Given the description of an element on the screen output the (x, y) to click on. 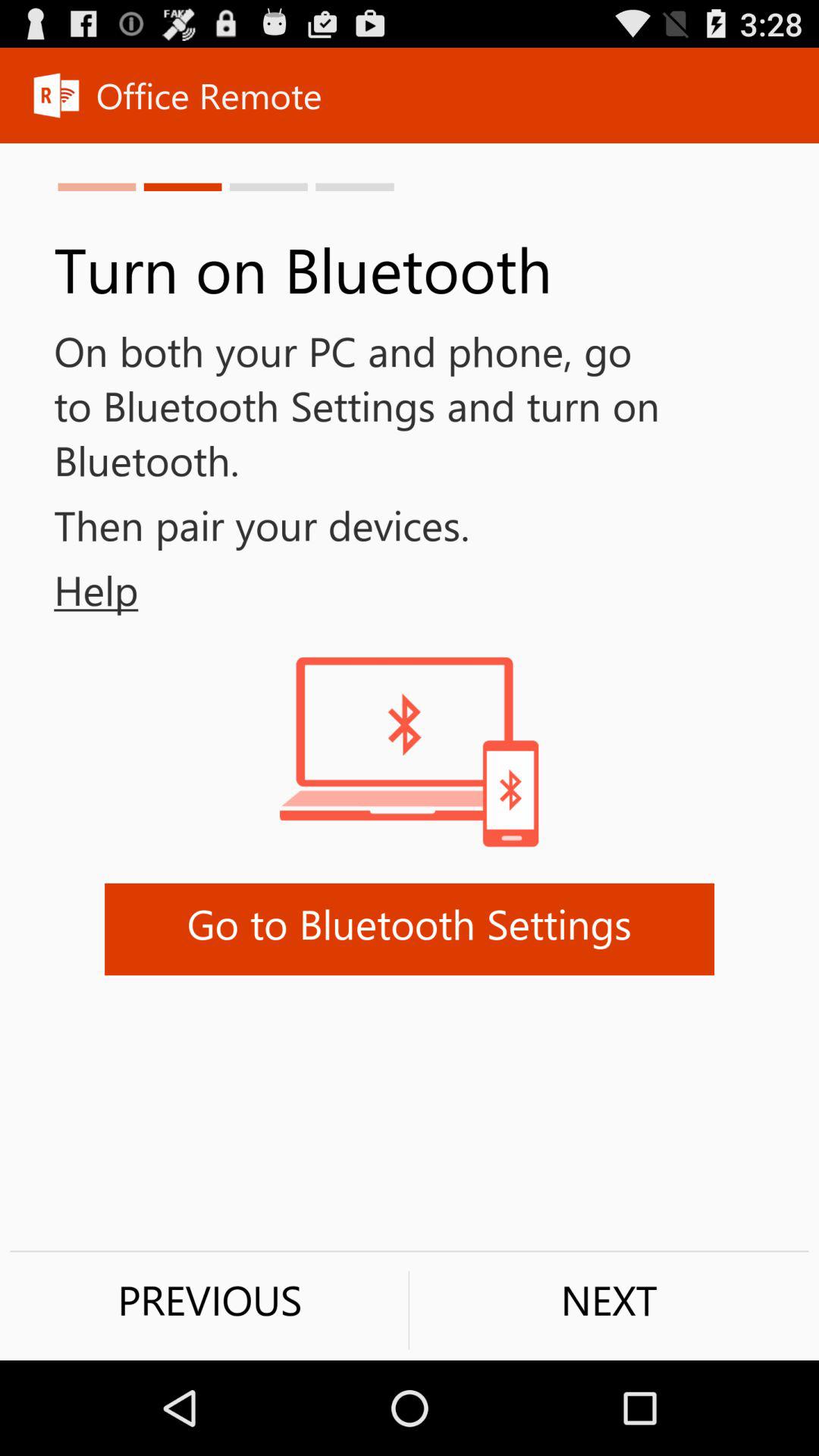
scroll until help item (69, 589)
